Given the description of an element on the screen output the (x, y) to click on. 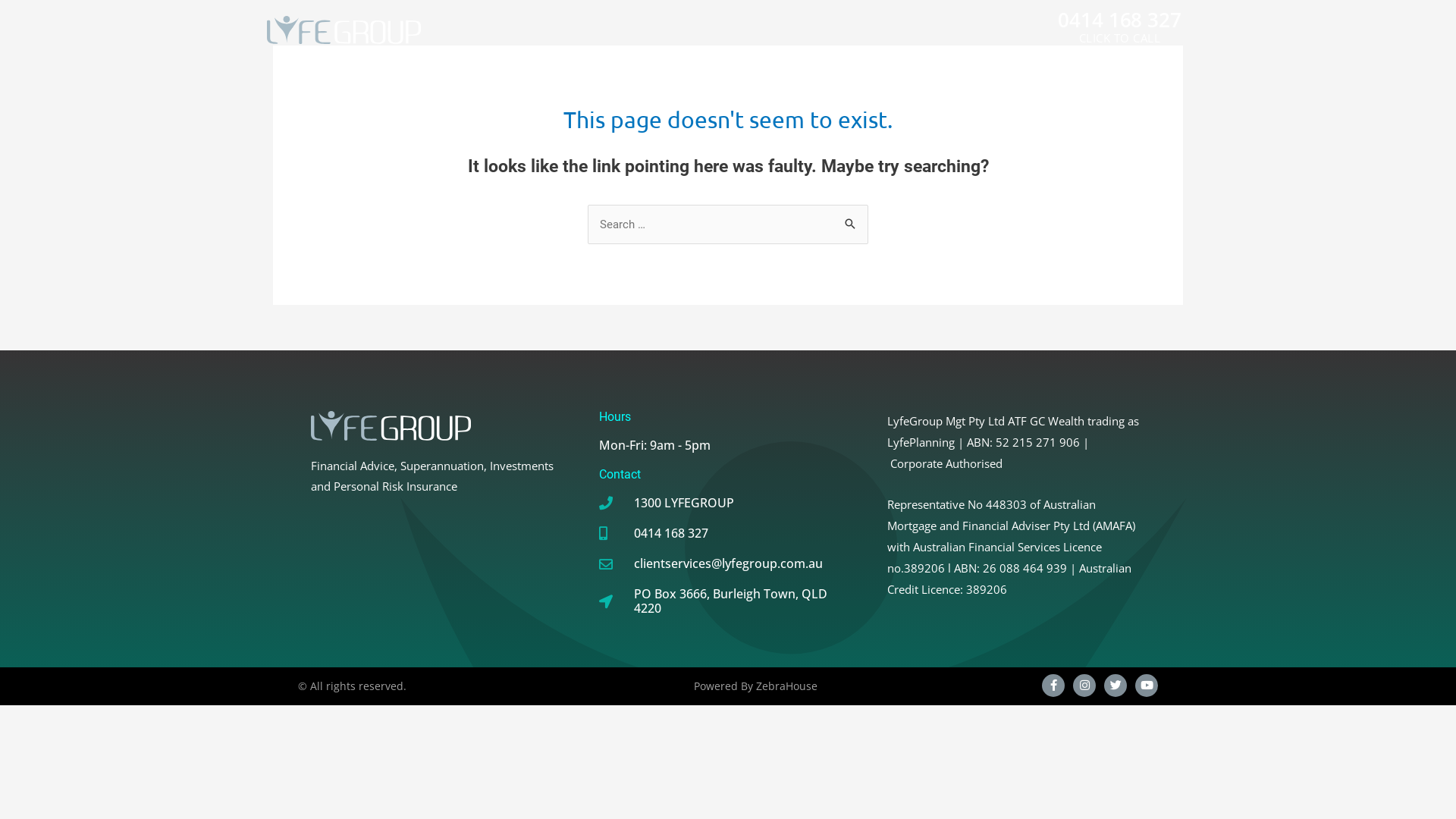
CLICK TO CALL Element type: text (1120, 37)
Mon-Fri: 9am - 5pm Element type: text (727, 445)
0414 168 327 Element type: text (1119, 19)
0414 168 327 Element type: text (727, 533)
clientservices@lyfegroup.com.au Element type: text (727, 563)
Search Element type: text (851, 224)
1300 LYFEGROUP Element type: text (727, 502)
Powered By ZebraHouse Element type: text (755, 685)
